Given the description of an element on the screen output the (x, y) to click on. 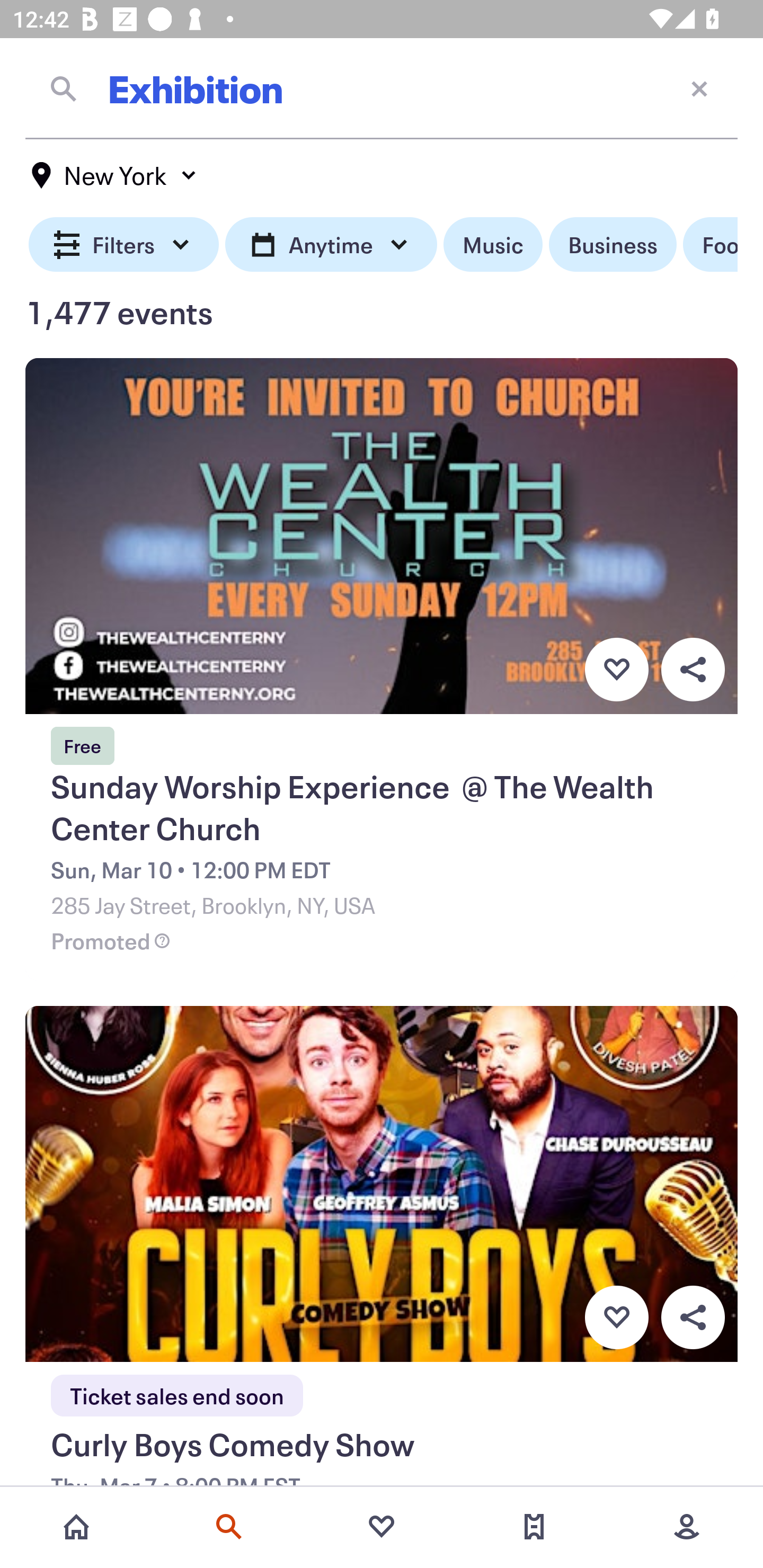
Exhibition Close current screen (381, 88)
Close current screen (699, 88)
New York (114, 175)
Filters (123, 244)
Anytime (331, 244)
Music (492, 244)
Business (612, 244)
Favorite button (616, 669)
Overflow menu button (692, 669)
Favorite button (616, 1317)
Overflow menu button (692, 1317)
Home (76, 1526)
Search events (228, 1526)
Favorites (381, 1526)
Tickets (533, 1526)
More (686, 1526)
